Given the description of an element on the screen output the (x, y) to click on. 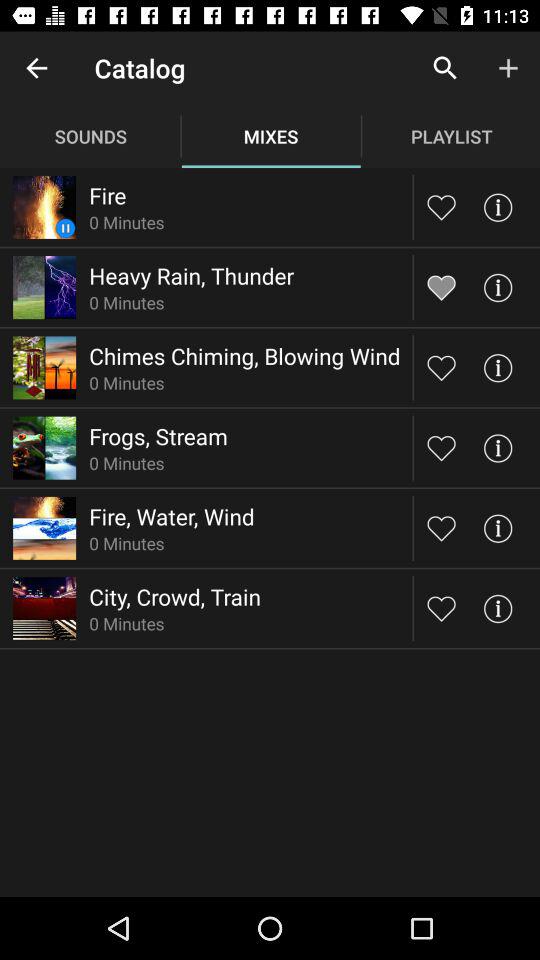
interact with page (498, 367)
